Given the description of an element on the screen output the (x, y) to click on. 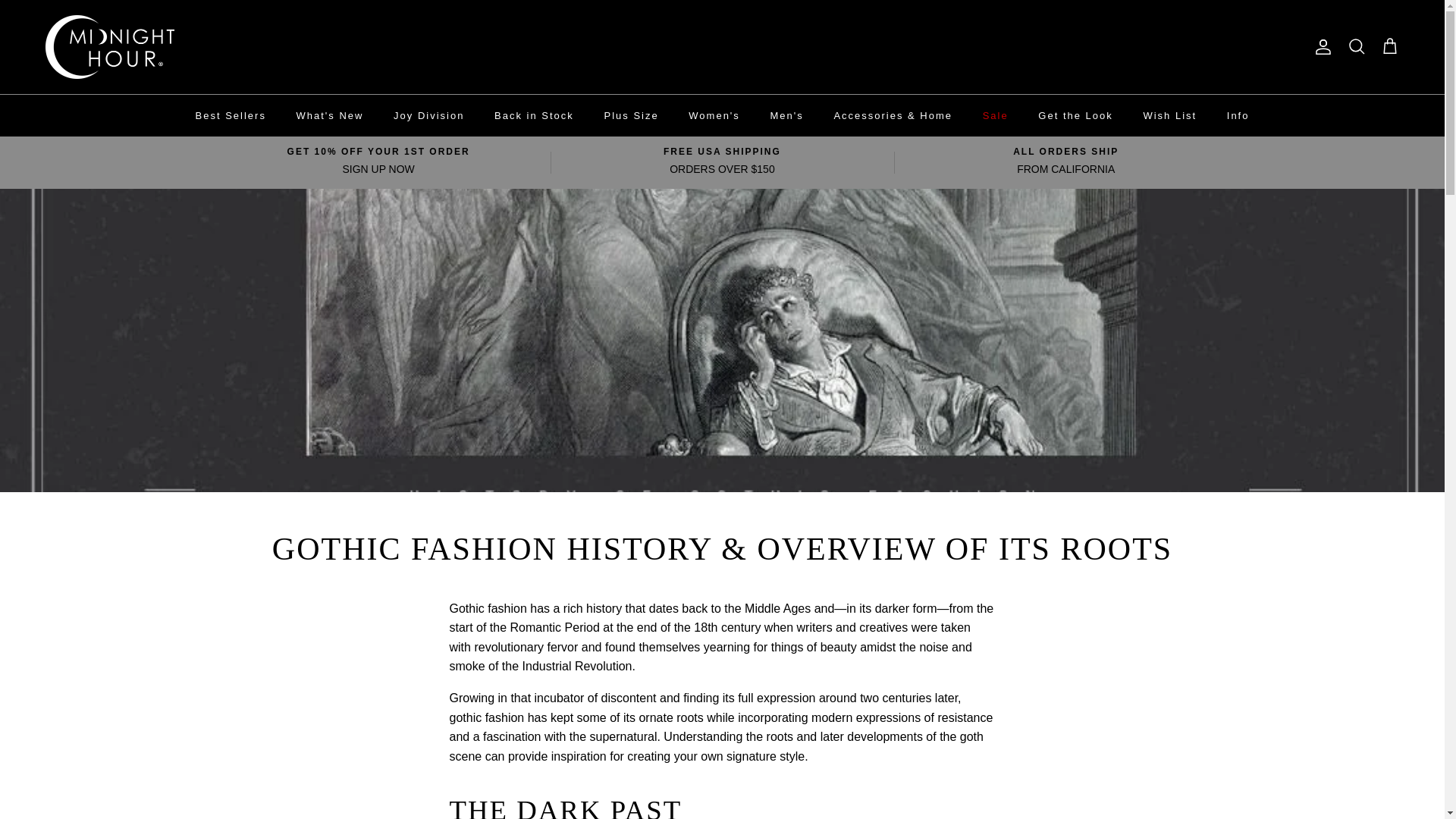
Best Sellers (230, 115)
Joy Division (428, 115)
Back in Stock (534, 115)
What's New (329, 115)
Plus Size (630, 115)
Midnight Hour  (109, 46)
Account (1319, 46)
Cart (1389, 46)
Search (1356, 46)
